Given the description of an element on the screen output the (x, y) to click on. 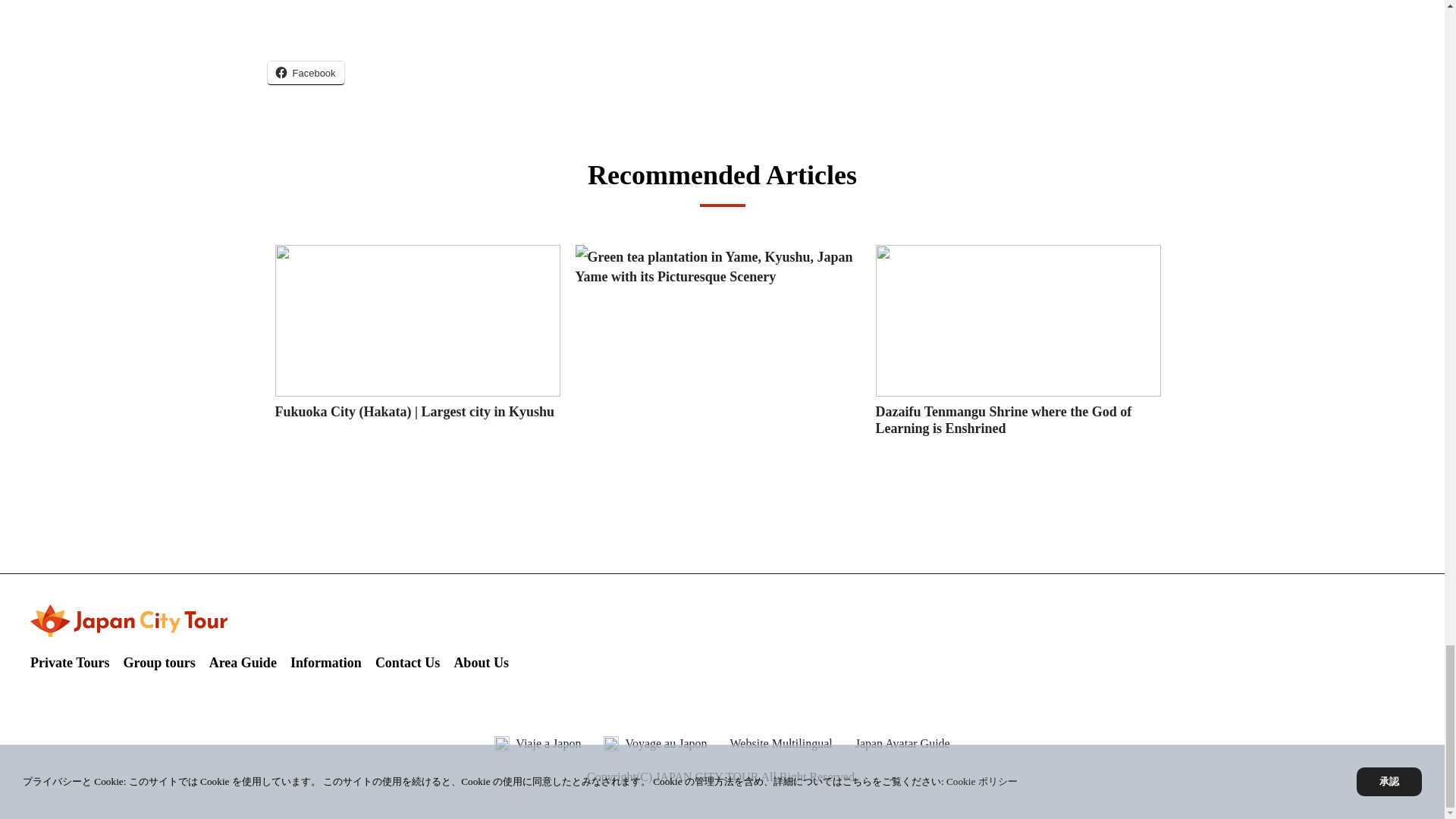
Facebook (304, 73)
Area Guide (242, 662)
Voyage au Japon (665, 743)
Contact Us (408, 662)
Private Tours (70, 662)
Click to share on Facebook (304, 73)
Yame with its Picturesque Scenery (675, 276)
About Us (480, 662)
Information (325, 662)
